Given the description of an element on the screen output the (x, y) to click on. 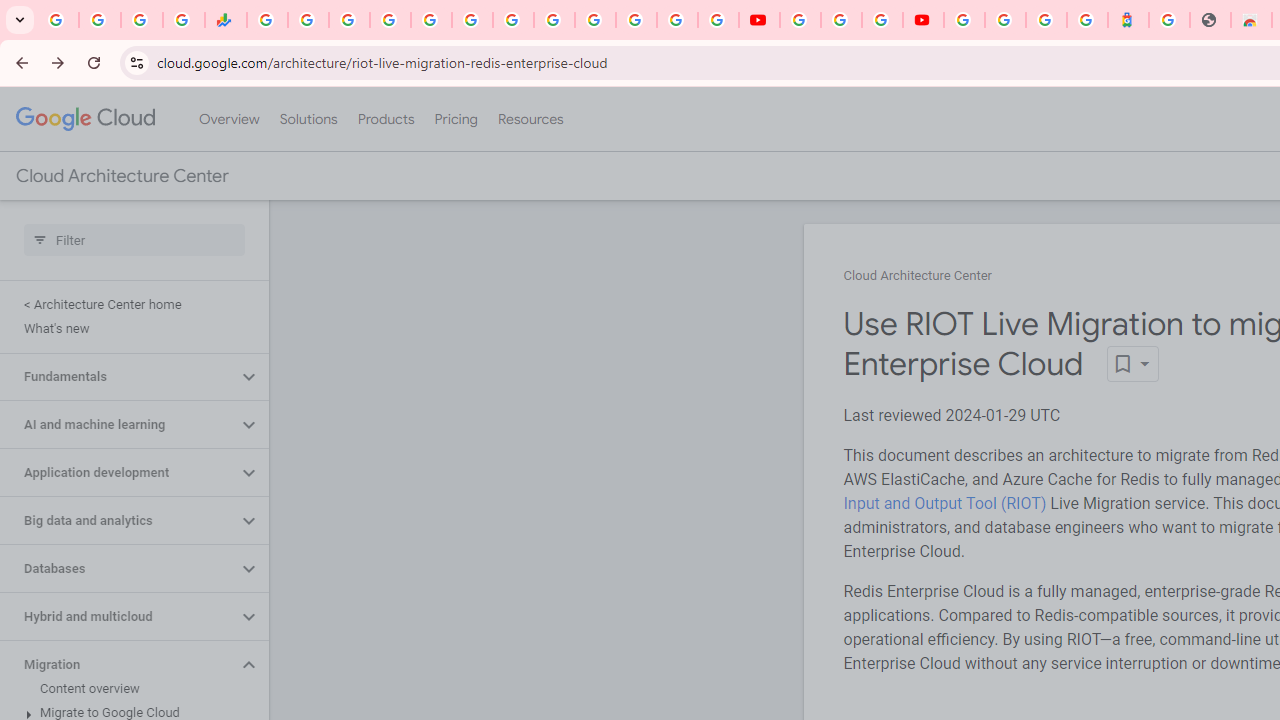
Google Cloud (84, 118)
Pricing (455, 119)
YouTube (758, 20)
Resources (530, 119)
